Given the description of an element on the screen output the (x, y) to click on. 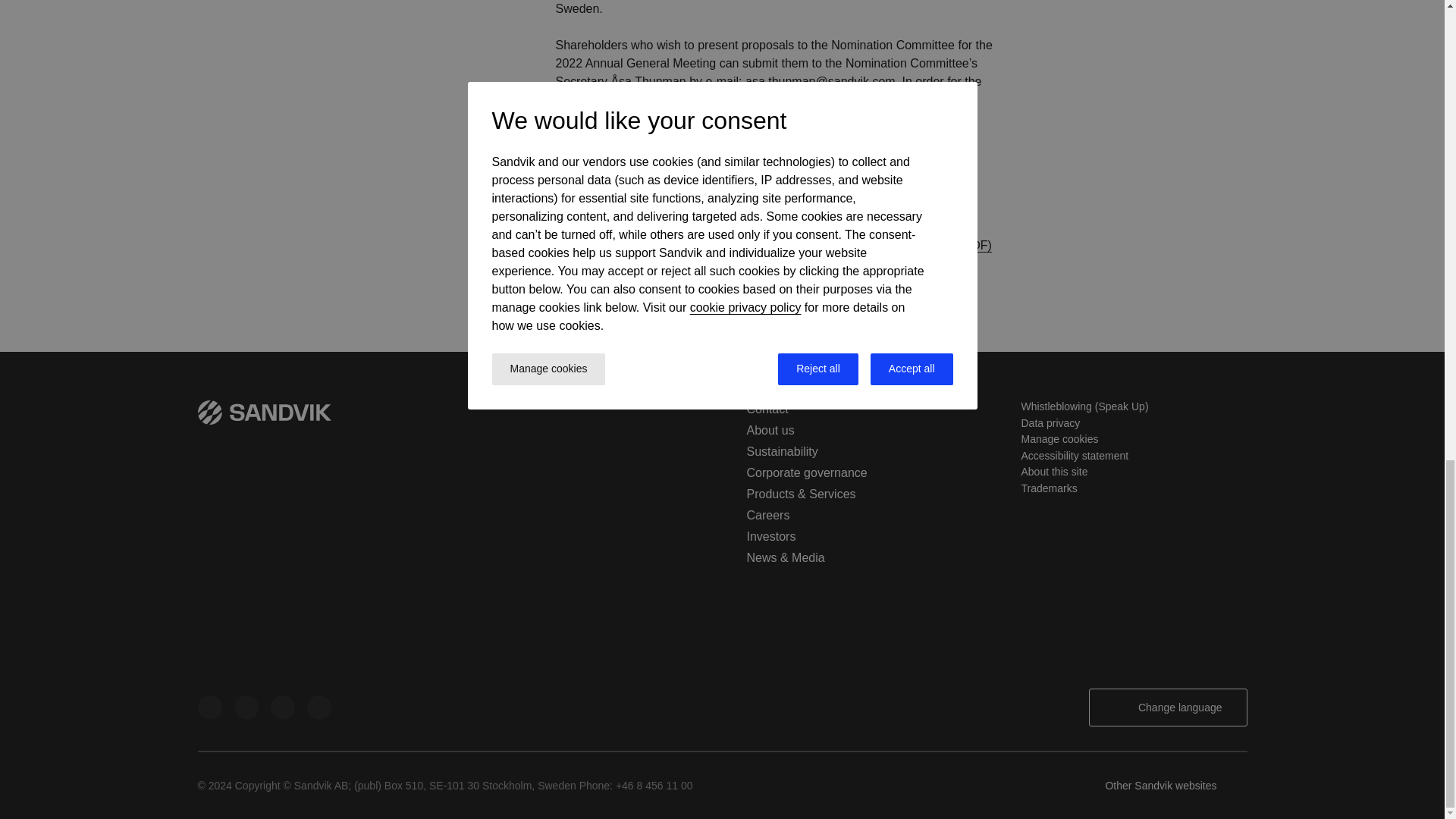
Data privacy (1050, 422)
About this site (1053, 471)
Contact (766, 408)
Instagram (244, 707)
Youtube (281, 707)
Careers (767, 514)
Facebook (317, 707)
Sustainability (780, 451)
Other Sandvik websites (1175, 785)
About us (769, 430)
Accessibility statement (1074, 455)
Manage cookies (1058, 439)
Corporate governance (805, 472)
Trademarks (1048, 488)
Investors (769, 535)
